Given the description of an element on the screen output the (x, y) to click on. 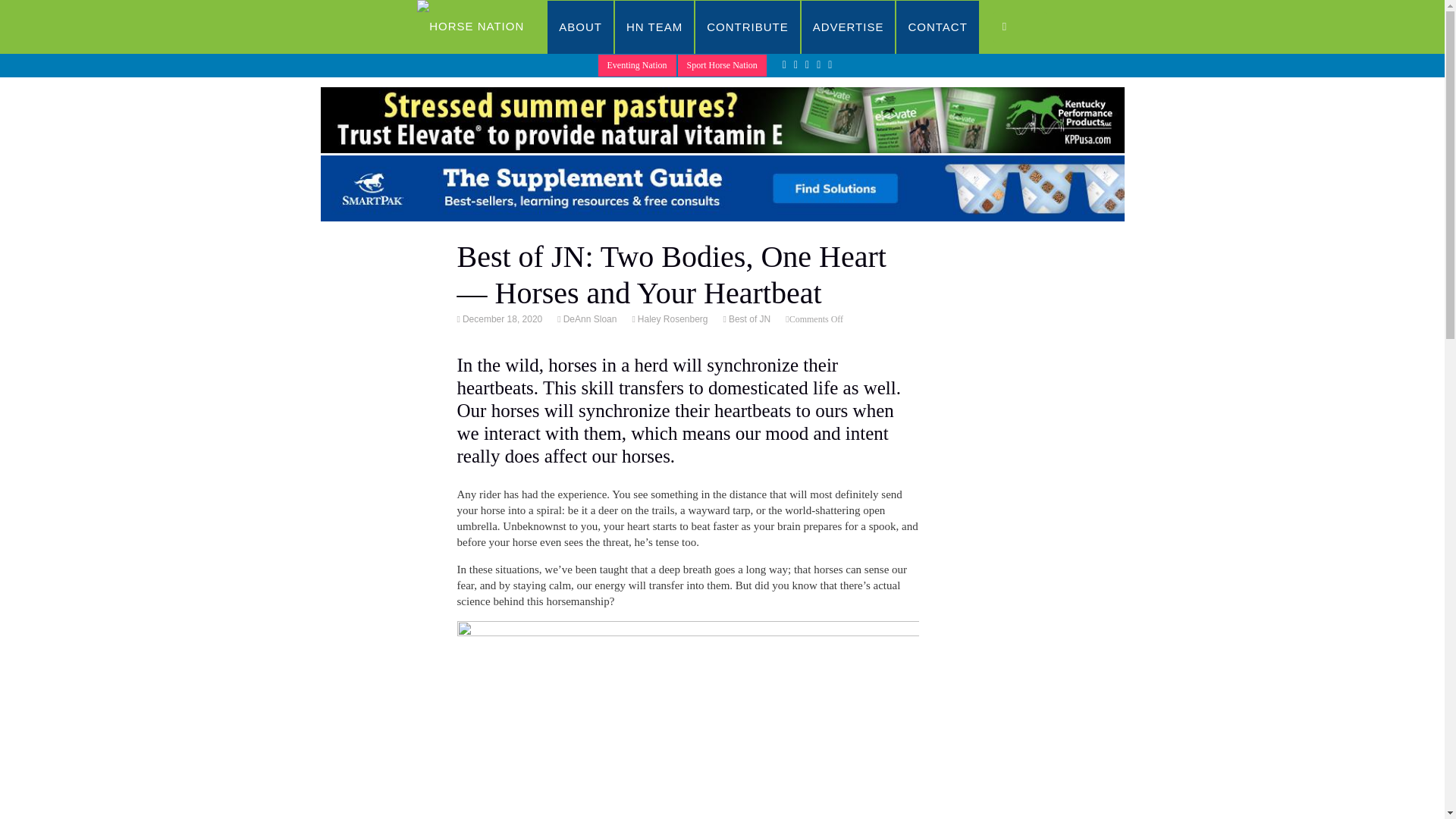
DeAnn Sloan (588, 318)
December 18, 2020 (500, 318)
SEARCH (1019, 27)
CONTRIBUTE (747, 27)
Eventing Nation (637, 65)
HN TEAM (654, 27)
Best of JN (748, 318)
View all posts by DeAnn Sloan (588, 318)
Haley Rosenberg (670, 318)
Sport Horse Nation (722, 65)
